Given the description of an element on the screen output the (x, y) to click on. 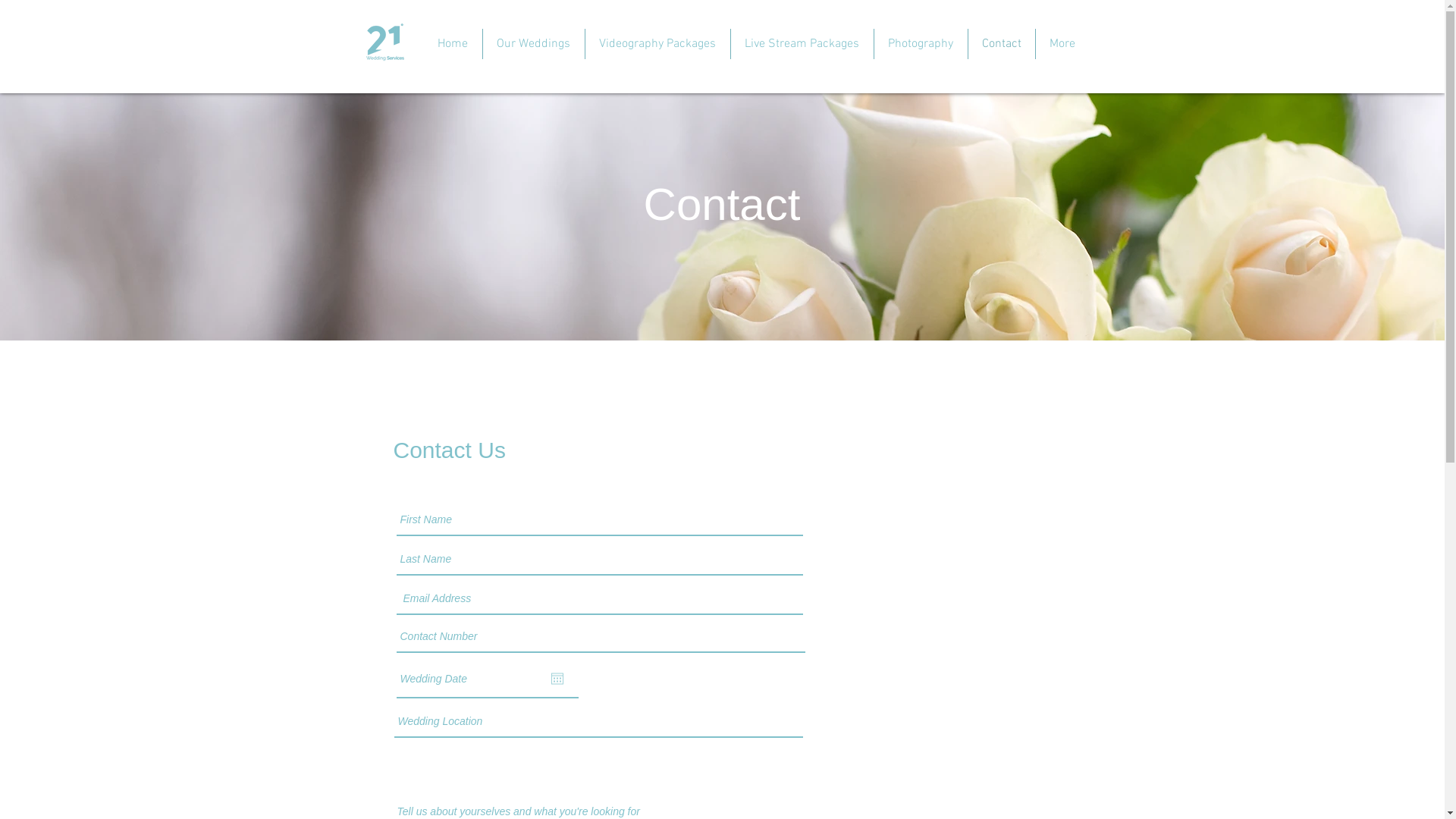
Our Weddings Element type: text (533, 43)
Photography Element type: text (920, 43)
Live Stream Packages Element type: text (800, 43)
Contact Element type: text (1001, 43)
Home Element type: text (452, 43)
21 Degrees Wedding Logo_turquoise.png Element type: hover (383, 44)
Videography Packages Element type: text (656, 43)
